Given the description of an element on the screen output the (x, y) to click on. 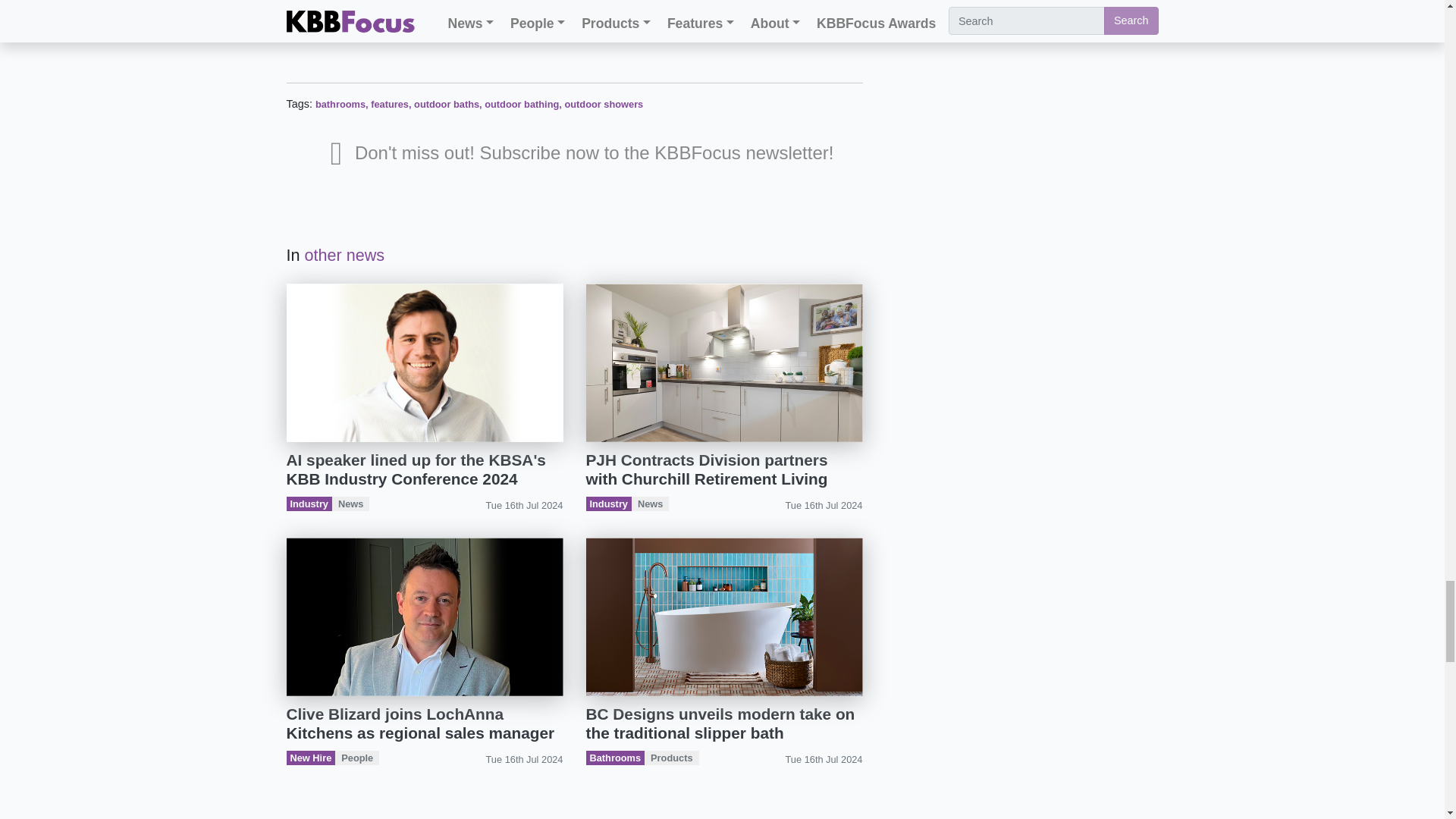
features (390, 103)
Industry (308, 503)
outdoor baths (446, 103)
News (349, 503)
outdoor showers (603, 103)
Don't miss out! Subscribe now to the KBBFocus newsletter! (582, 158)
bathrooms (340, 103)
outdoor bathing (521, 103)
